Given the description of an element on the screen output the (x, y) to click on. 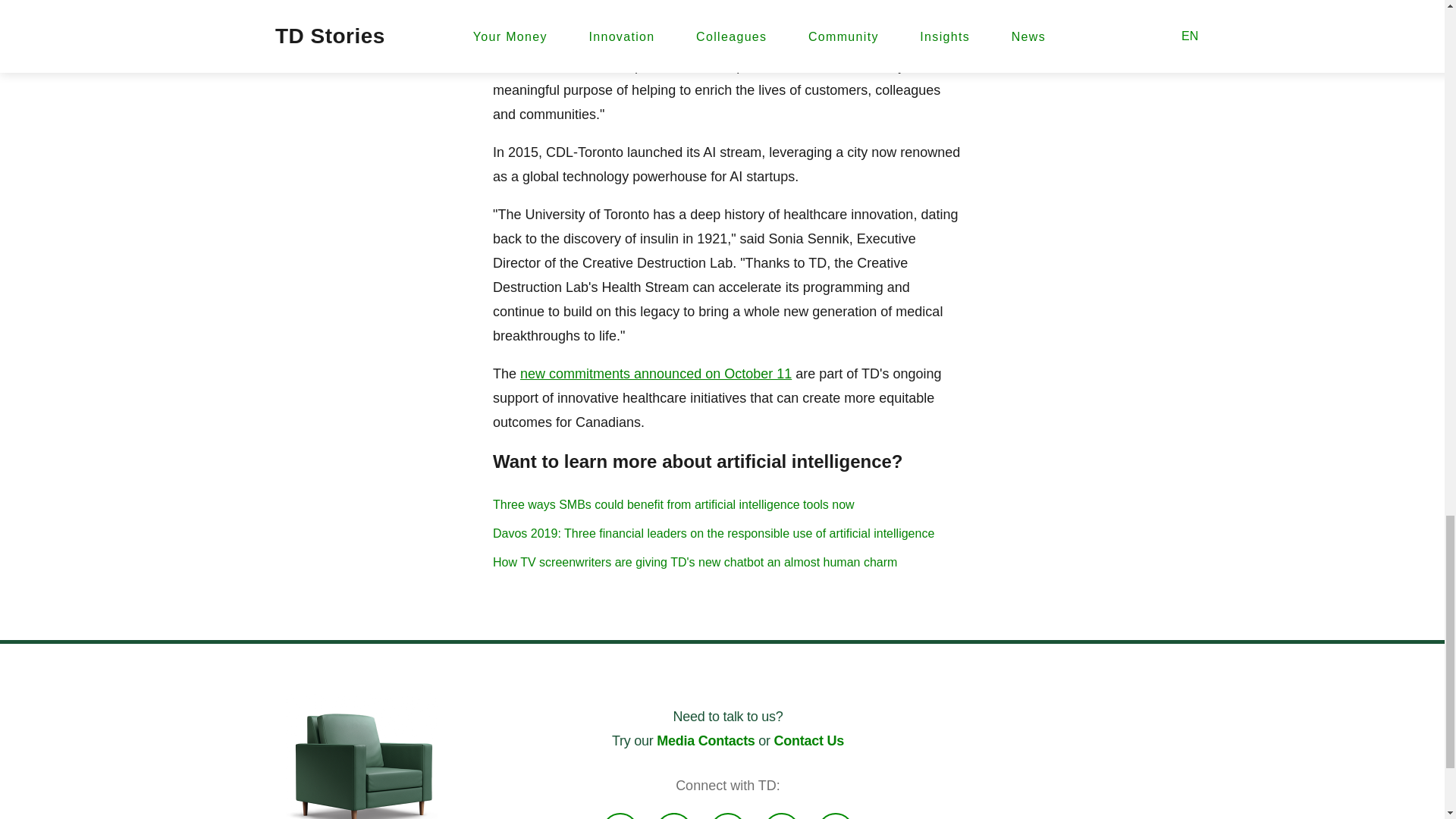
new commitments announced on October 11 (655, 373)
Media Contacts (705, 740)
Contact Us (809, 740)
